Given the description of an element on the screen output the (x, y) to click on. 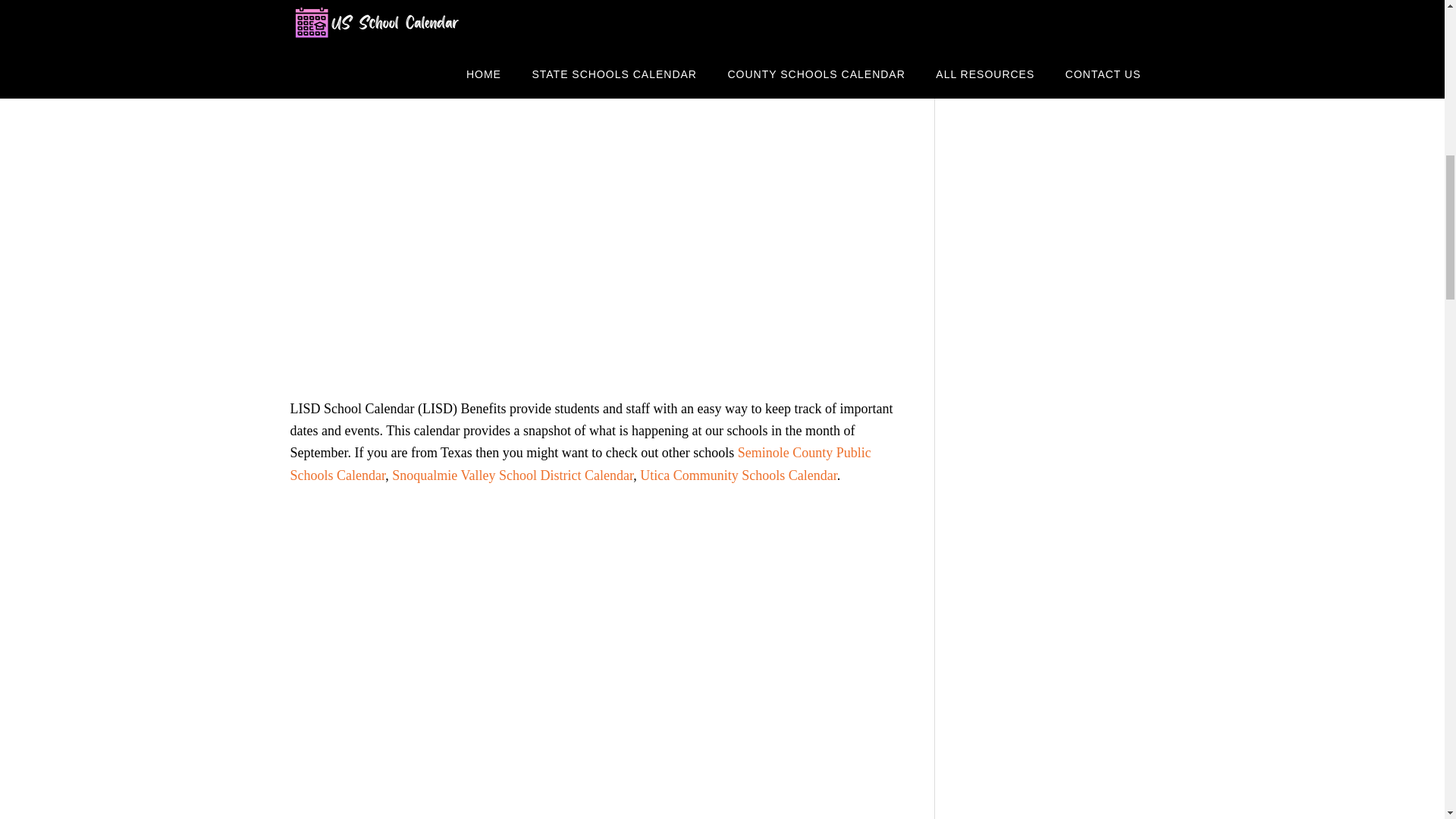
Seminole County Public Schools Calendar (579, 463)
Snoqualmie Valley School District Calendar (512, 475)
Utica Community Schools Calendar (737, 475)
